Given the description of an element on the screen output the (x, y) to click on. 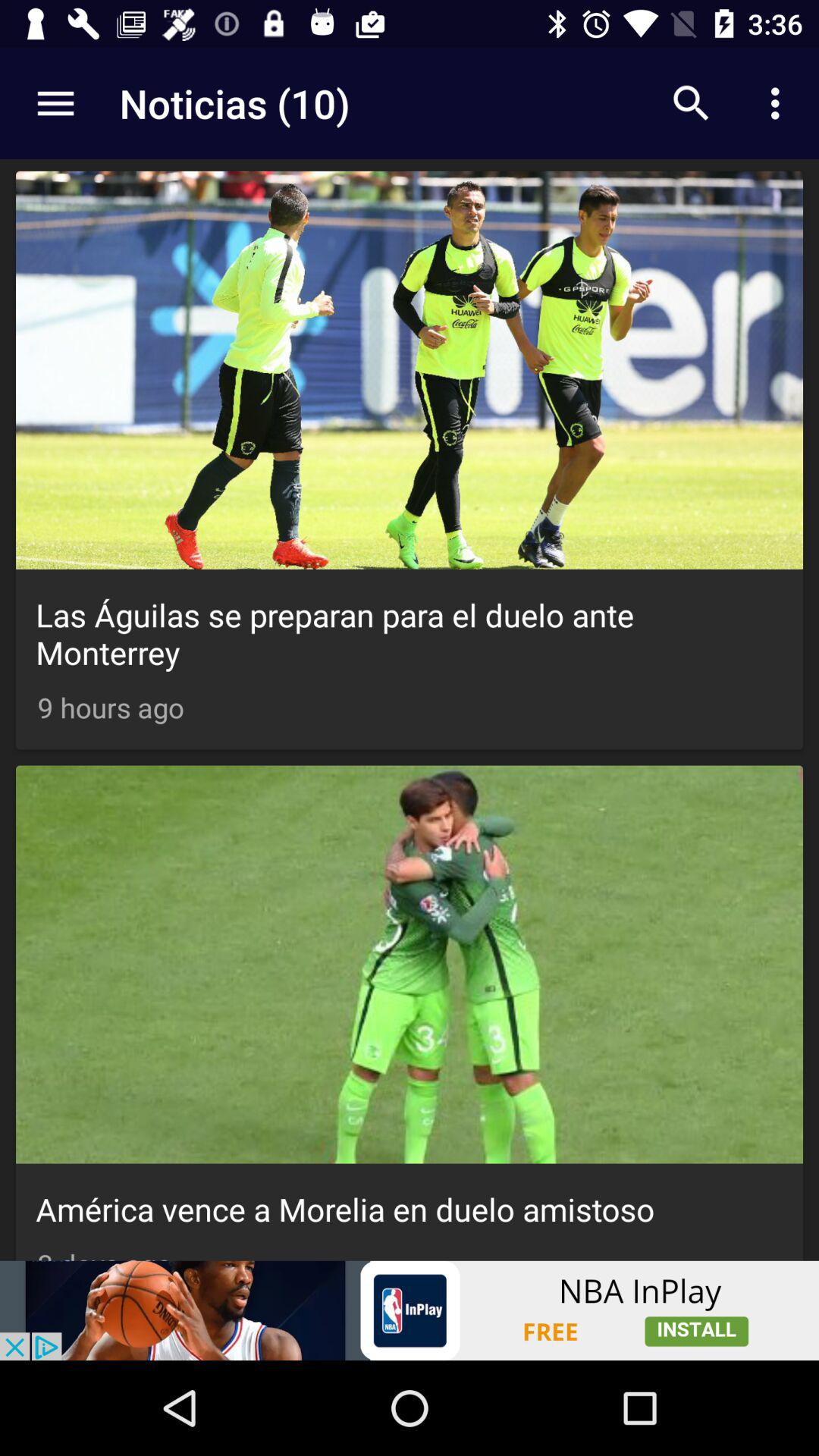
share the article (409, 1310)
